Given the description of an element on the screen output the (x, y) to click on. 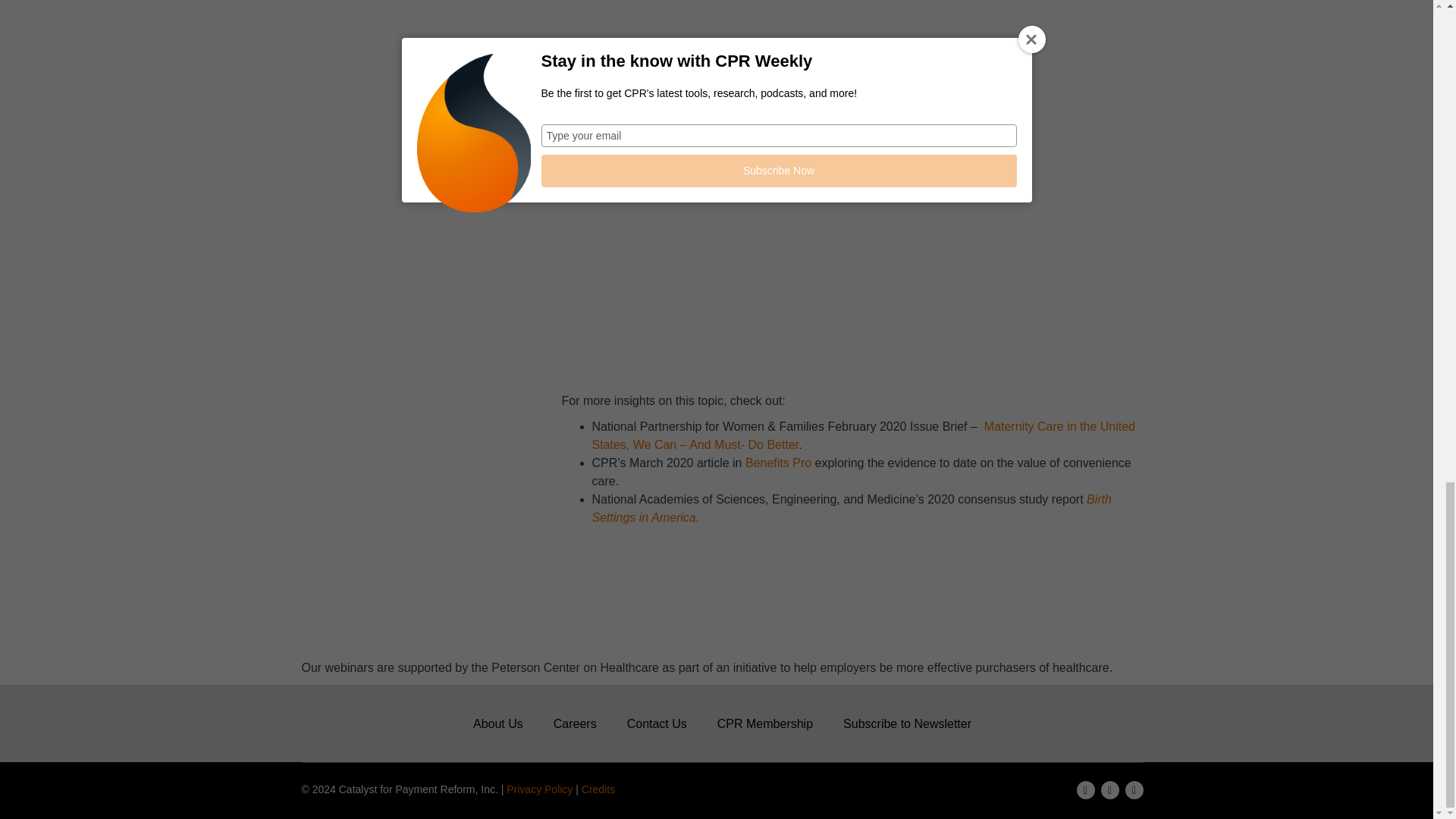
Benefits Pro (777, 462)
Birth Settings in America. (850, 508)
